Given the description of an element on the screen output the (x, y) to click on. 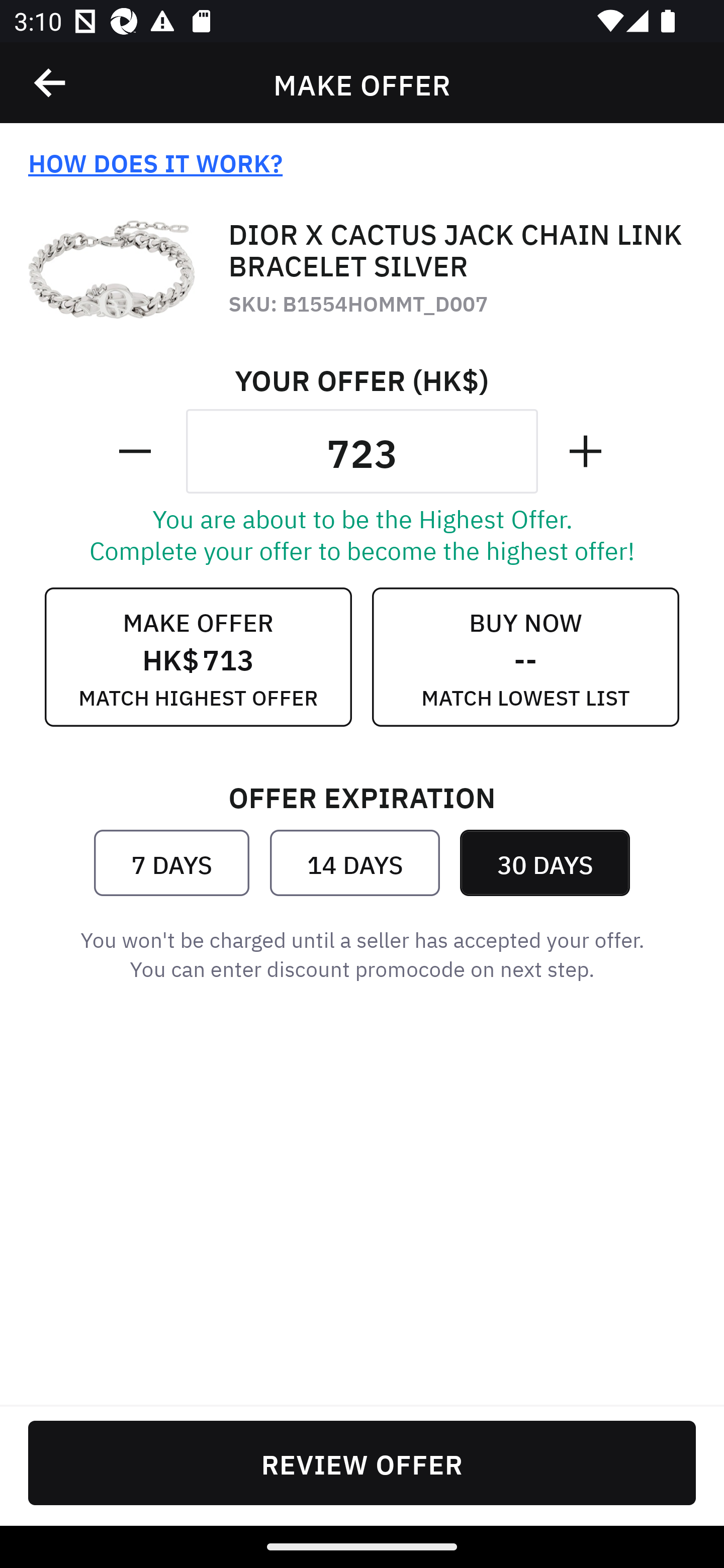
 (50, 83)
723 (361, 451)
 (136, 451)
 (586, 451)
MAKE OFFER HK$ 713 MATCH HIGHEST OFFER (197, 656)
BUY NOW -- MATCH LOWEST LIST (525, 656)
7 DAYS (171, 862)
14 DAYS (354, 862)
30 DAYS (545, 862)
REVIEW OFFER (361, 1462)
